Given the description of an element on the screen output the (x, y) to click on. 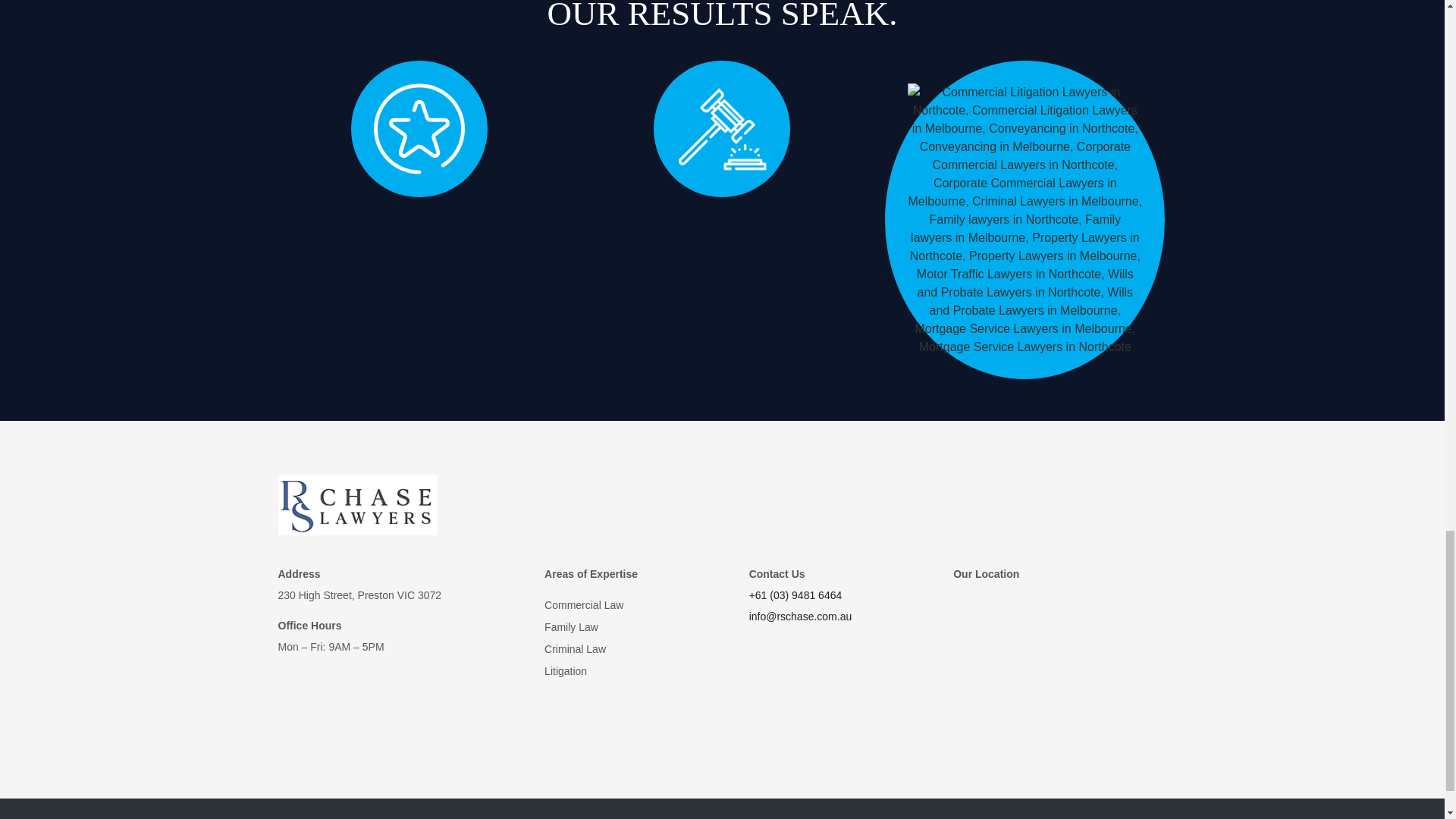
star (419, 129)
law (722, 129)
